Given the description of an element on the screen output the (x, y) to click on. 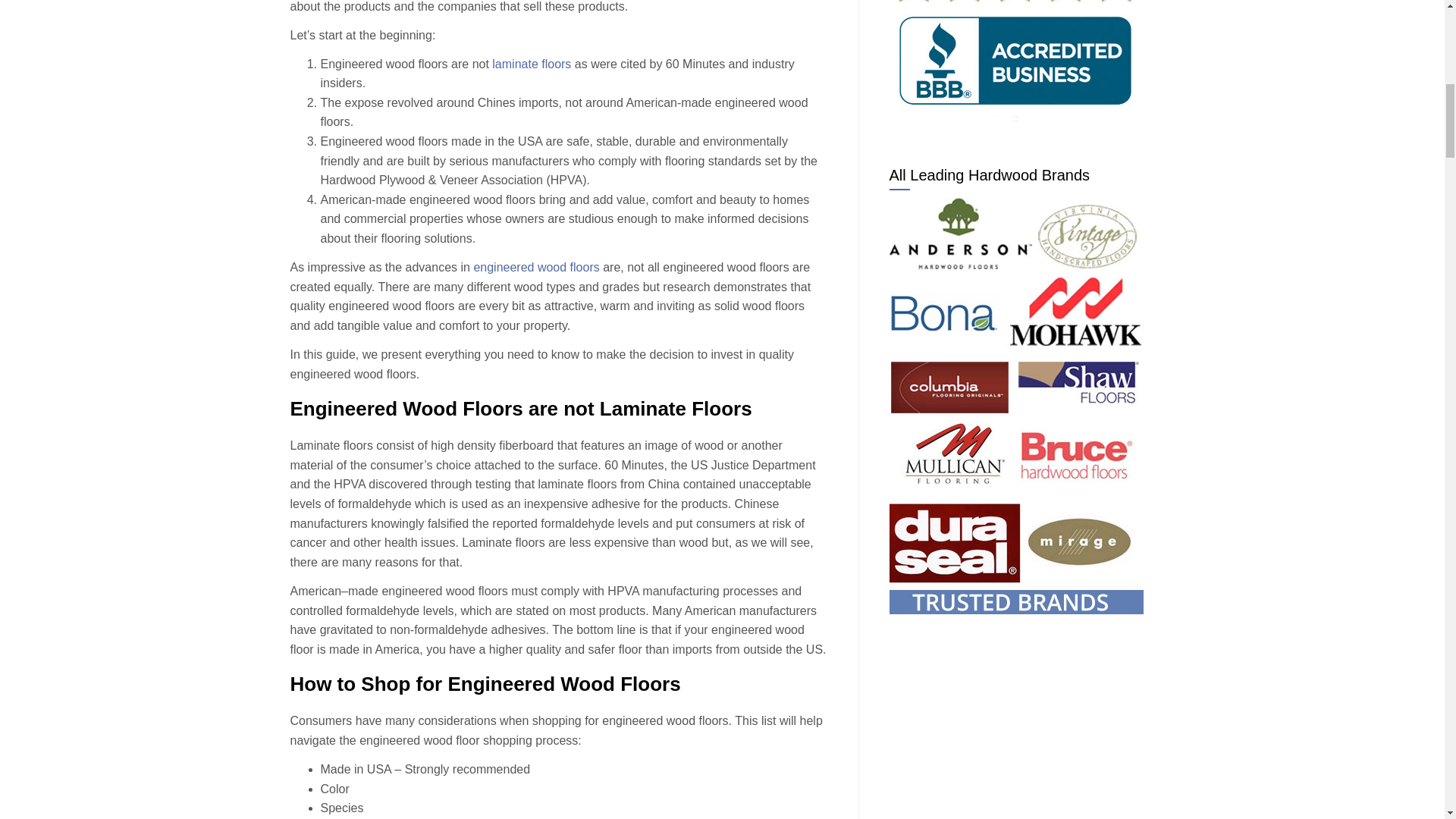
engineered wood floors (535, 267)
laminate floors (531, 63)
